Given the description of an element on the screen output the (x, y) to click on. 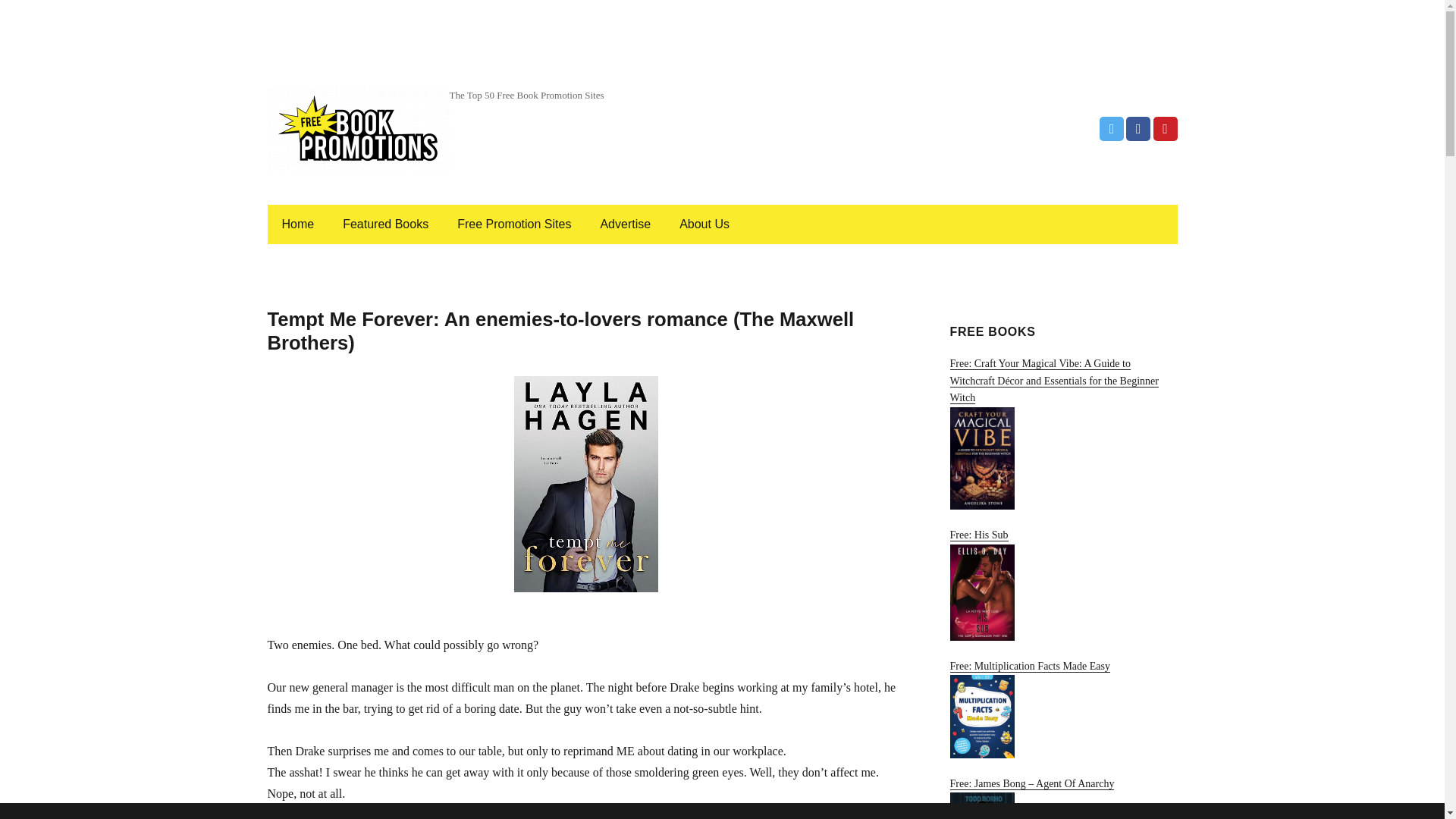
Free: Multiplication Facts Made Easy (1062, 709)
Featured Books (385, 224)
Twitter (1111, 128)
About Us (703, 224)
Free: His Sub (1062, 584)
Free Promotion Sites (513, 224)
Advertise (625, 224)
Home (297, 224)
Facebook (1137, 128)
Pinterest (1164, 128)
